Given the description of an element on the screen output the (x, y) to click on. 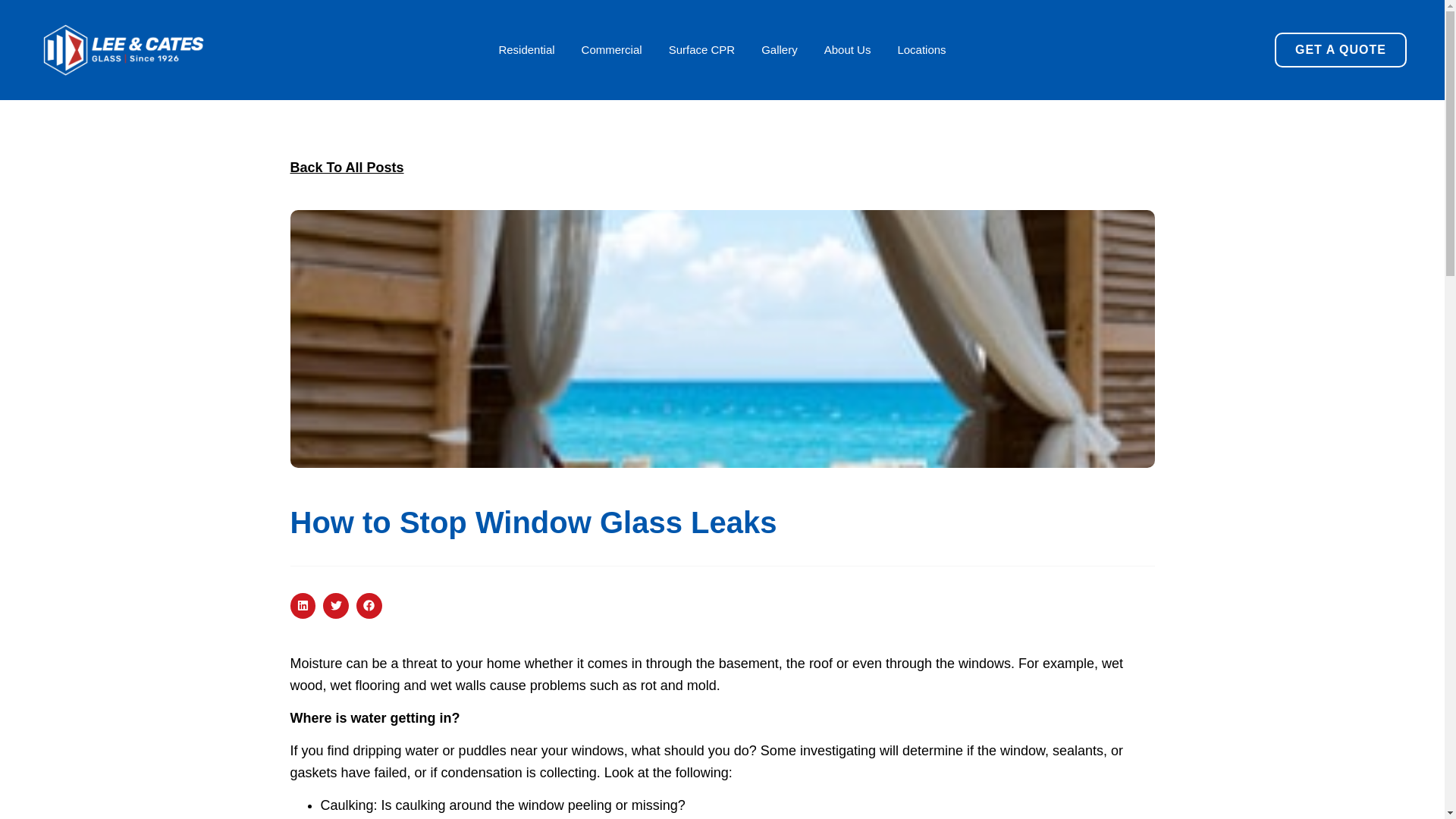
Back To All Posts (346, 167)
Gallery (779, 49)
Residential (525, 49)
About Us (847, 49)
Commercial (611, 49)
GET A QUOTE (1340, 49)
Surface CPR (701, 49)
Locations (920, 49)
